Given the description of an element on the screen output the (x, y) to click on. 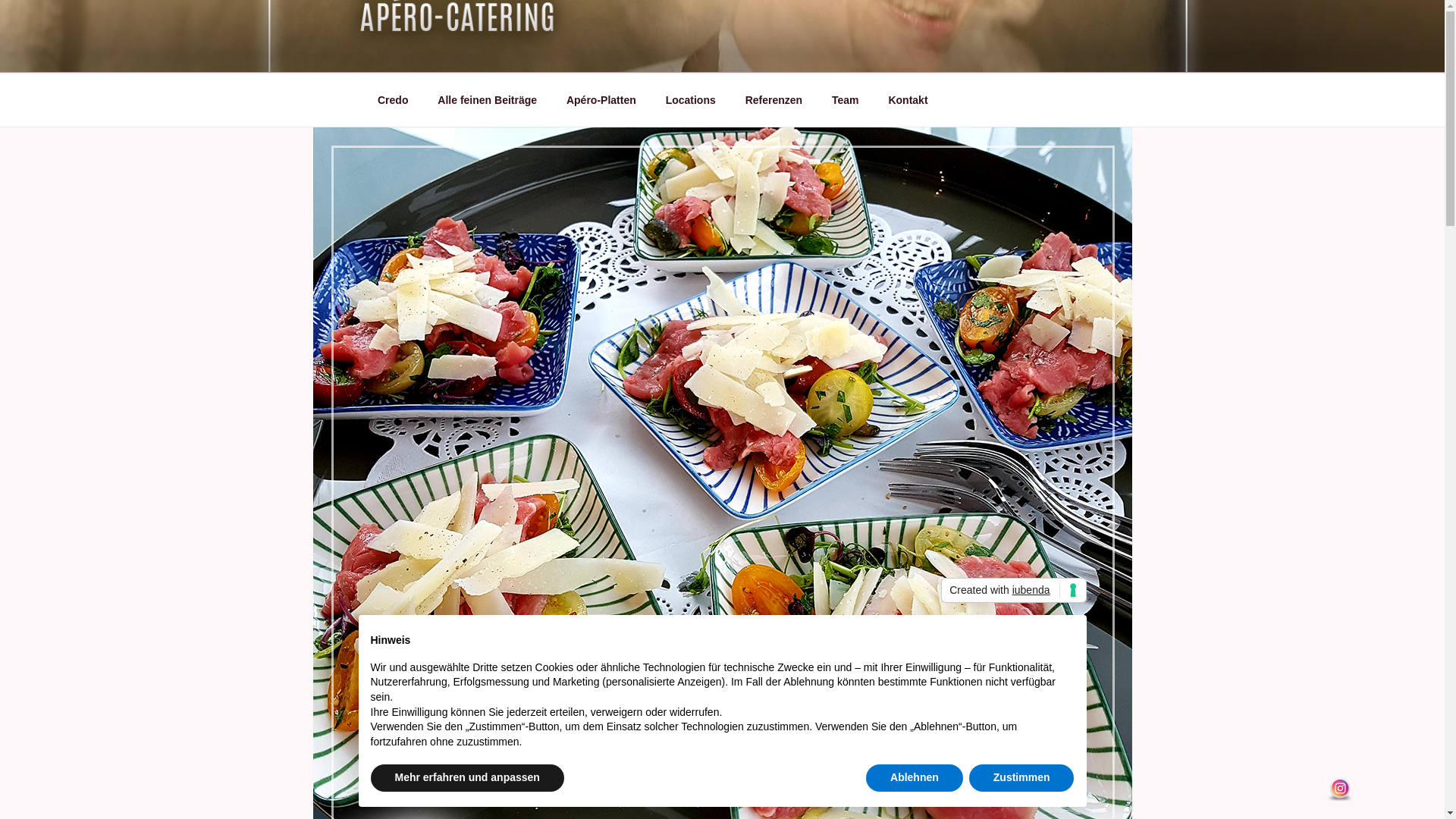
Visit Us On Instagram Element type: hover (1339, 796)
Team Element type: text (845, 100)
Zustimmen Element type: text (1021, 777)
Credo Element type: text (392, 100)
Ablehnen Element type: text (914, 777)
Referenzen Element type: text (773, 100)
Mehr erfahren und anpassen Element type: text (466, 777)
Locations Element type: text (690, 100)
Kontakt Element type: text (908, 100)
Created with iubenda Element type: text (1013, 590)
